Given the description of an element on the screen output the (x, y) to click on. 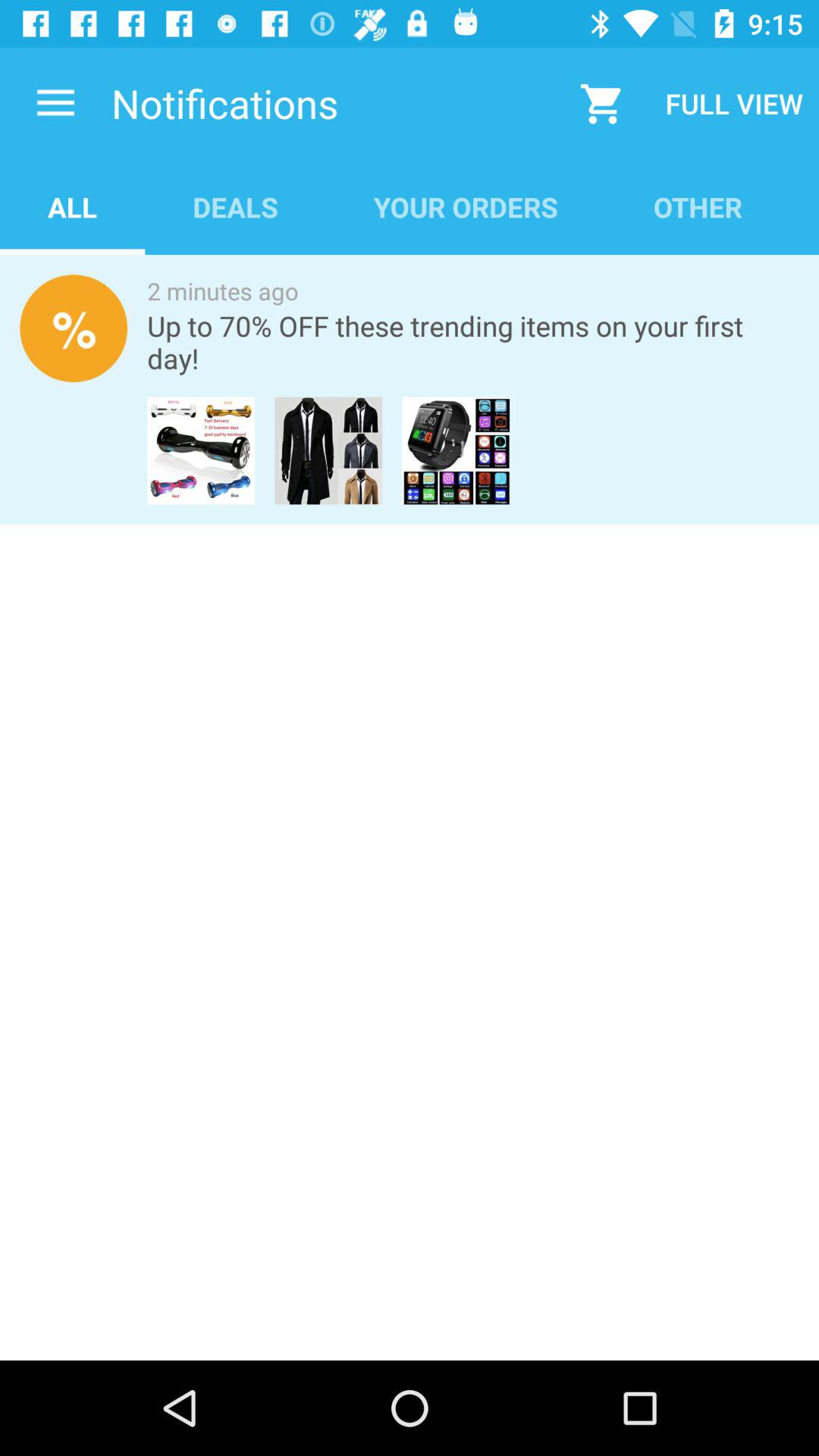
choose the icon below the notifications icon (235, 206)
